Given the description of an element on the screen output the (x, y) to click on. 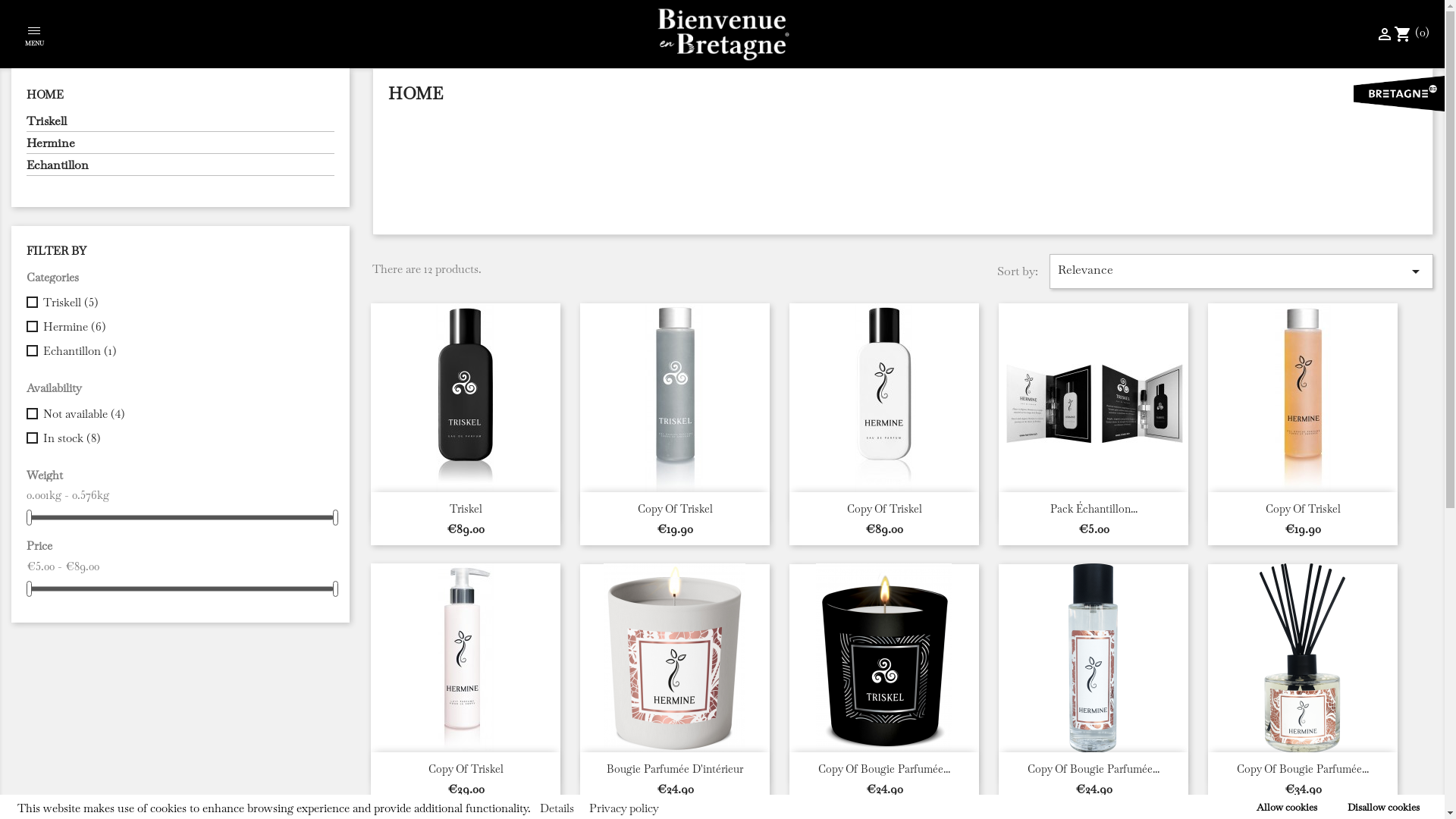
Echantillon (1) Element type: text (185, 350)
Allow cookies Element type: text (1286, 806)
Hermine (6) Element type: text (185, 326)
Not available (4) Element type: text (185, 413)
Triskell (5) Element type: text (185, 302)
Copy Of Triskel Element type: text (674, 508)
Echantillon Element type: text (180, 166)
HOME Element type: text (44, 94)
perm_identity Element type: text (1384, 32)
Copy Of Triskel Element type: text (465, 768)
Triskel Element type: text (465, 508)
Triskell Element type: text (180, 122)
Copy Of Triskel Element type: text (1302, 508)
Copy Of Triskel Element type: text (884, 508)
In stock (8) Element type: text (185, 437)
Details Element type: text (556, 807)
Privacy policy Element type: text (624, 807)
MENU Element type: text (34, 37)
Hermine Element type: text (180, 144)
Disallow cookies Element type: text (1383, 806)
